Given the description of an element on the screen output the (x, y) to click on. 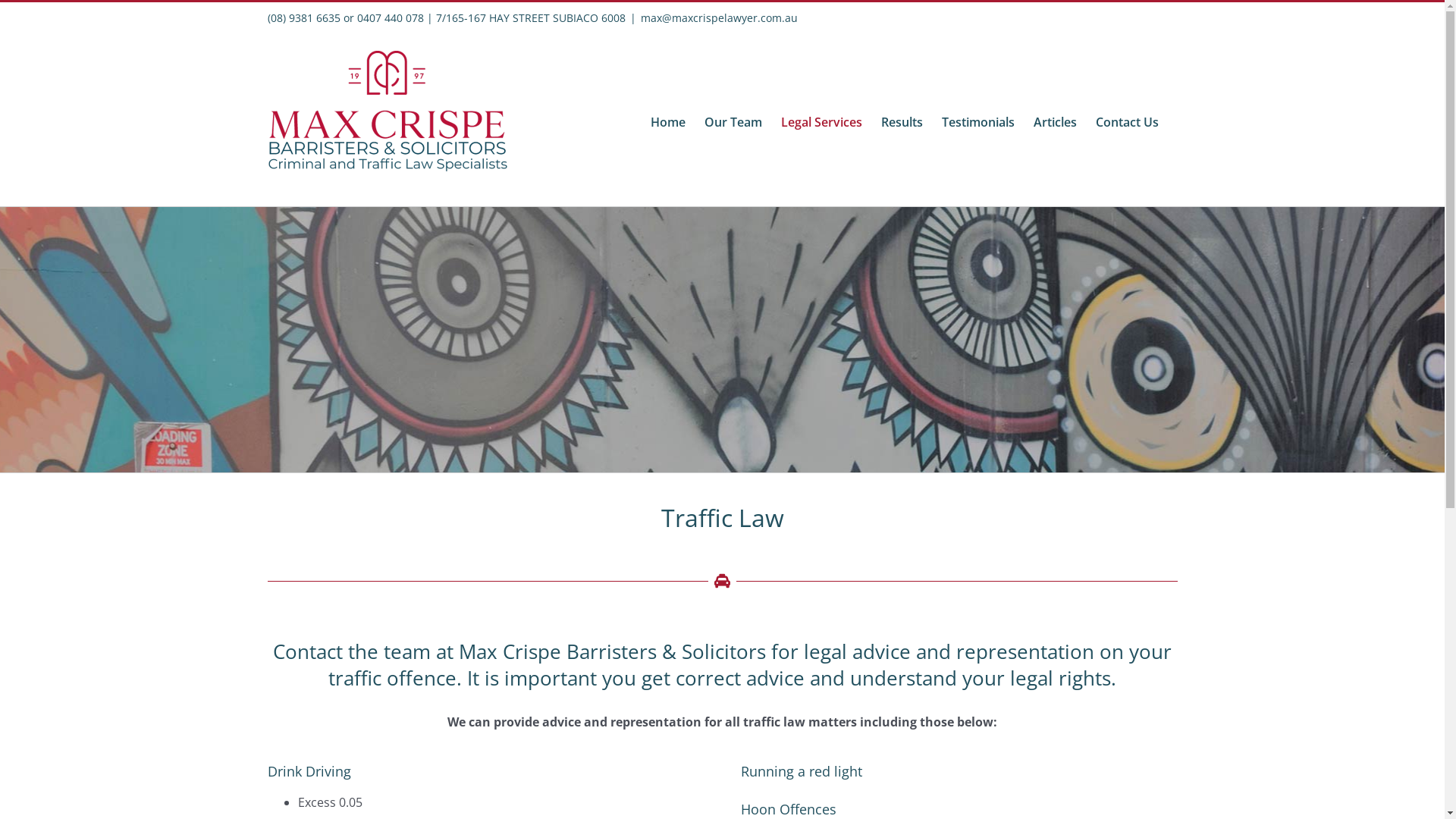
Results Element type: text (901, 121)
Home Element type: text (667, 121)
Legal Services Element type: text (821, 121)
Testimonials Element type: text (977, 121)
max@maxcrispelawyer.com.au Element type: text (718, 17)
Contact Us Element type: text (1126, 121)
Articles Element type: text (1054, 121)
Our Team Element type: text (732, 121)
